Given the description of an element on the screen output the (x, y) to click on. 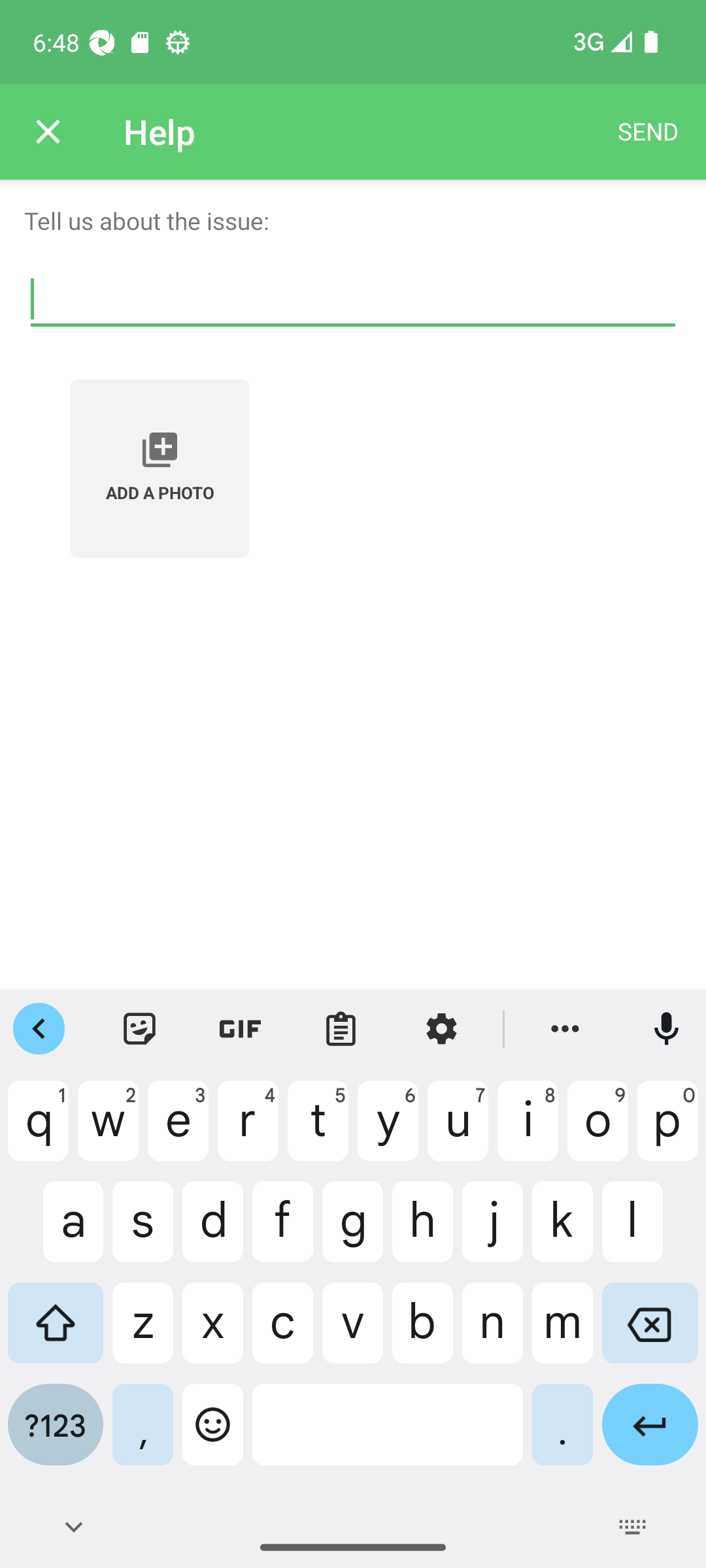
Navigate up (48, 131)
SEND (647, 131)
ADD A PHOTO (159, 468)
